Given the description of an element on the screen output the (x, y) to click on. 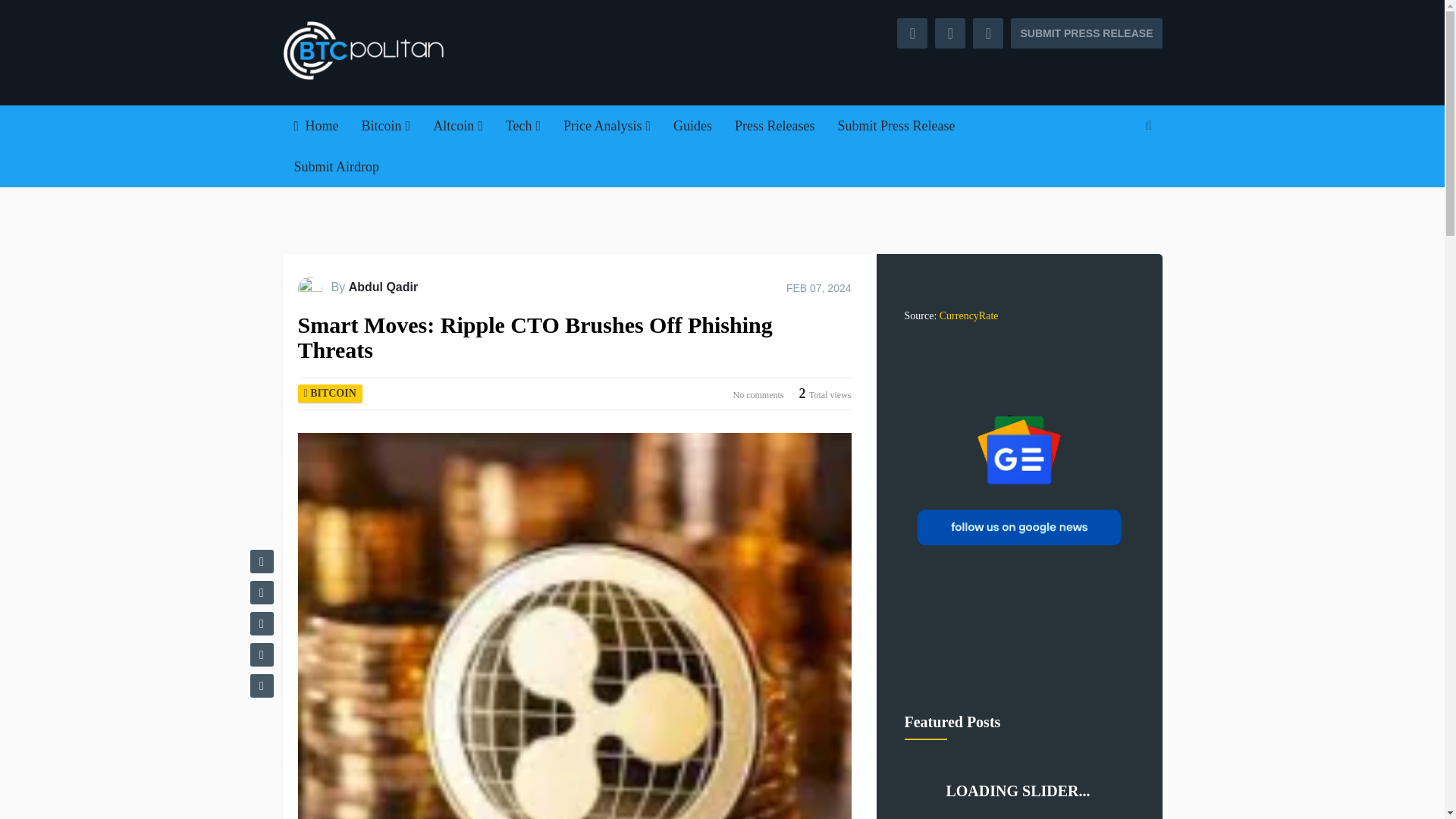
Bitcoin (386, 125)
Price Analysis (606, 125)
Posts by Abdul Qadir (384, 286)
Home (315, 125)
SUBMIT PRESS RELEASE (1085, 33)
Guides (692, 125)
Tech (523, 125)
Submit Press Release (896, 125)
Submit Airdrop (336, 166)
Views (825, 393)
